Given the description of an element on the screen output the (x, y) to click on. 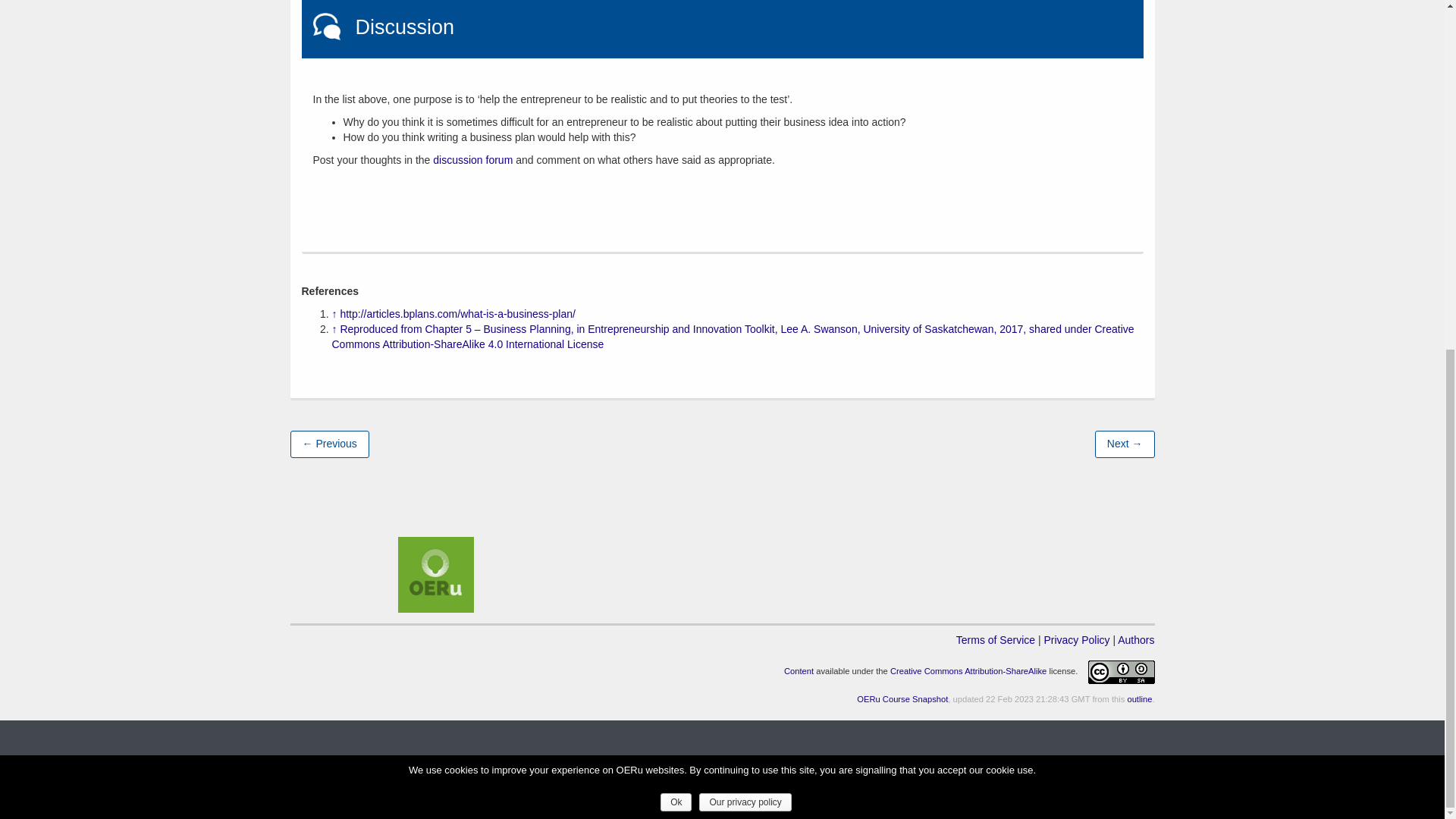
CC-BY-SA 4.0 International (967, 671)
Created by OERu Course Snapshot version 1.6.0 (902, 698)
original content in WikiEducator (798, 671)
institution logo (436, 574)
